Given the description of an element on the screen output the (x, y) to click on. 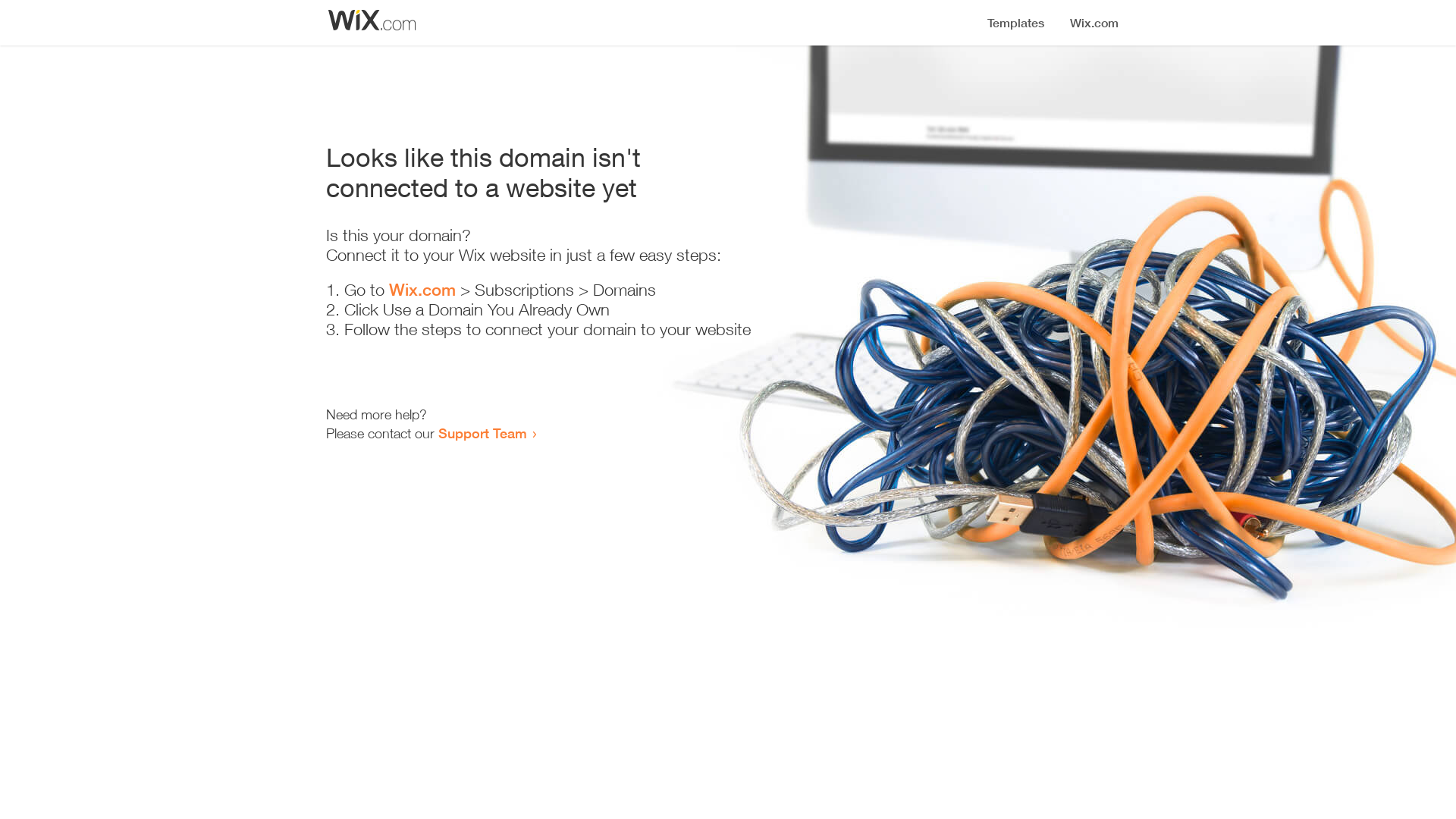
Wix.com Element type: text (422, 289)
Support Team Element type: text (482, 432)
